Given the description of an element on the screen output the (x, y) to click on. 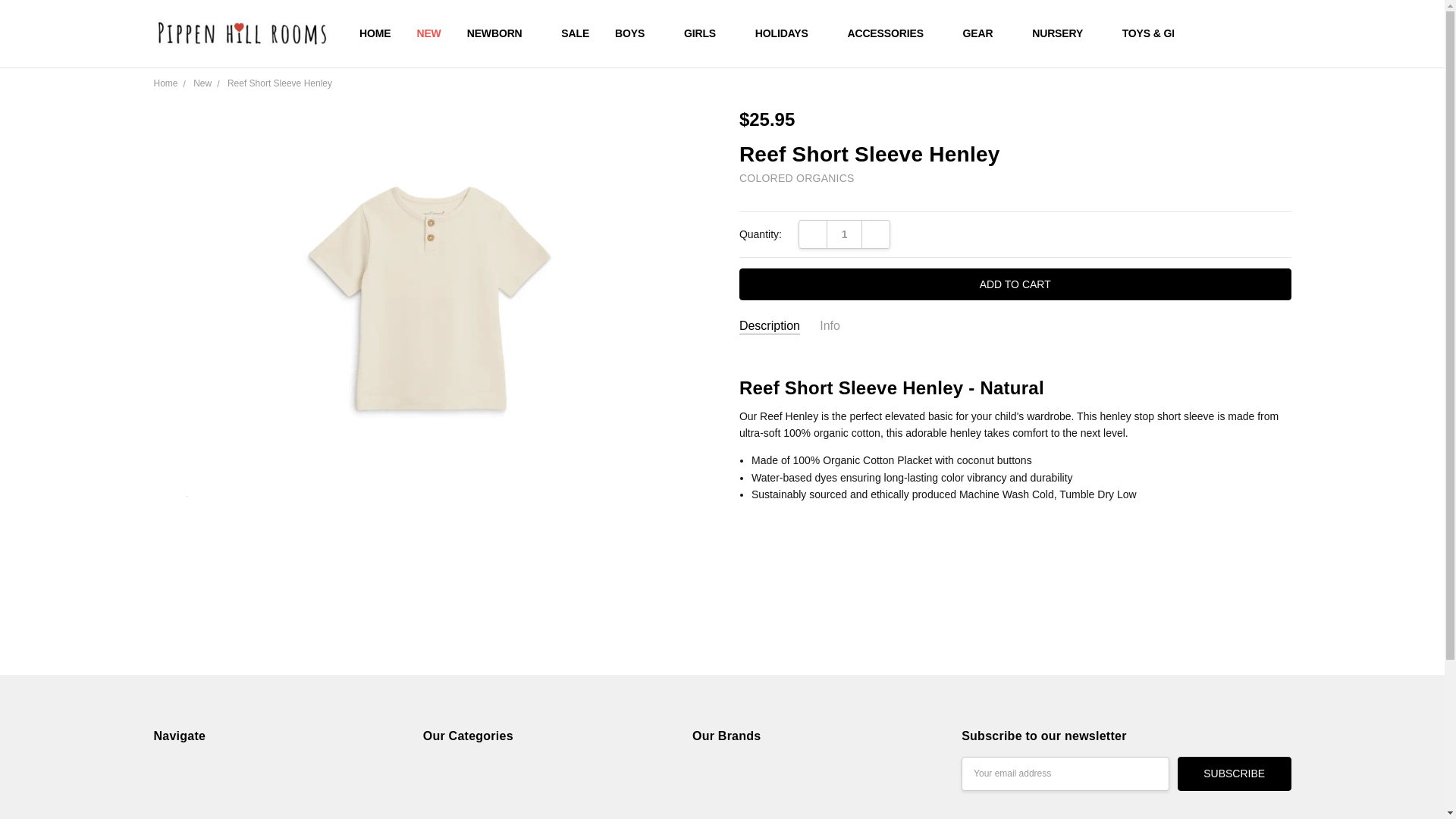
Pippen Hill Rooms (240, 33)
1 (844, 234)
NEWBORN (501, 33)
Subscribe (1234, 773)
BOYS (636, 33)
Add to Cart (1015, 284)
GIRLS (706, 33)
